Given the description of an element on the screen output the (x, y) to click on. 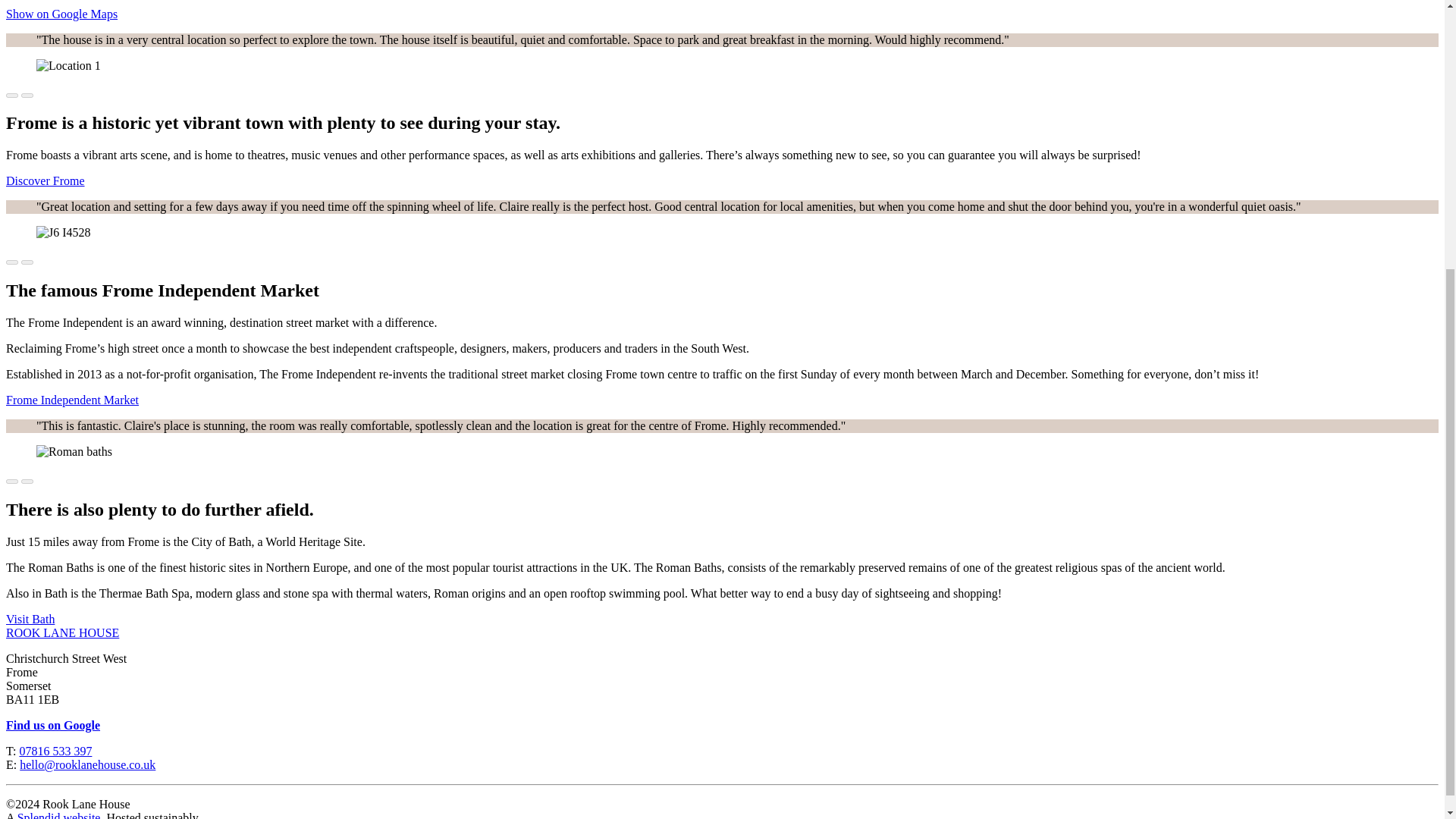
Show on Google Maps (61, 13)
Frome Independent Market (71, 399)
07816 533 397 (54, 750)
Find us on Google (52, 725)
ROOK LANE HOUSE (62, 632)
Visit Bath (30, 618)
Discover Frome (44, 180)
